Given the description of an element on the screen output the (x, y) to click on. 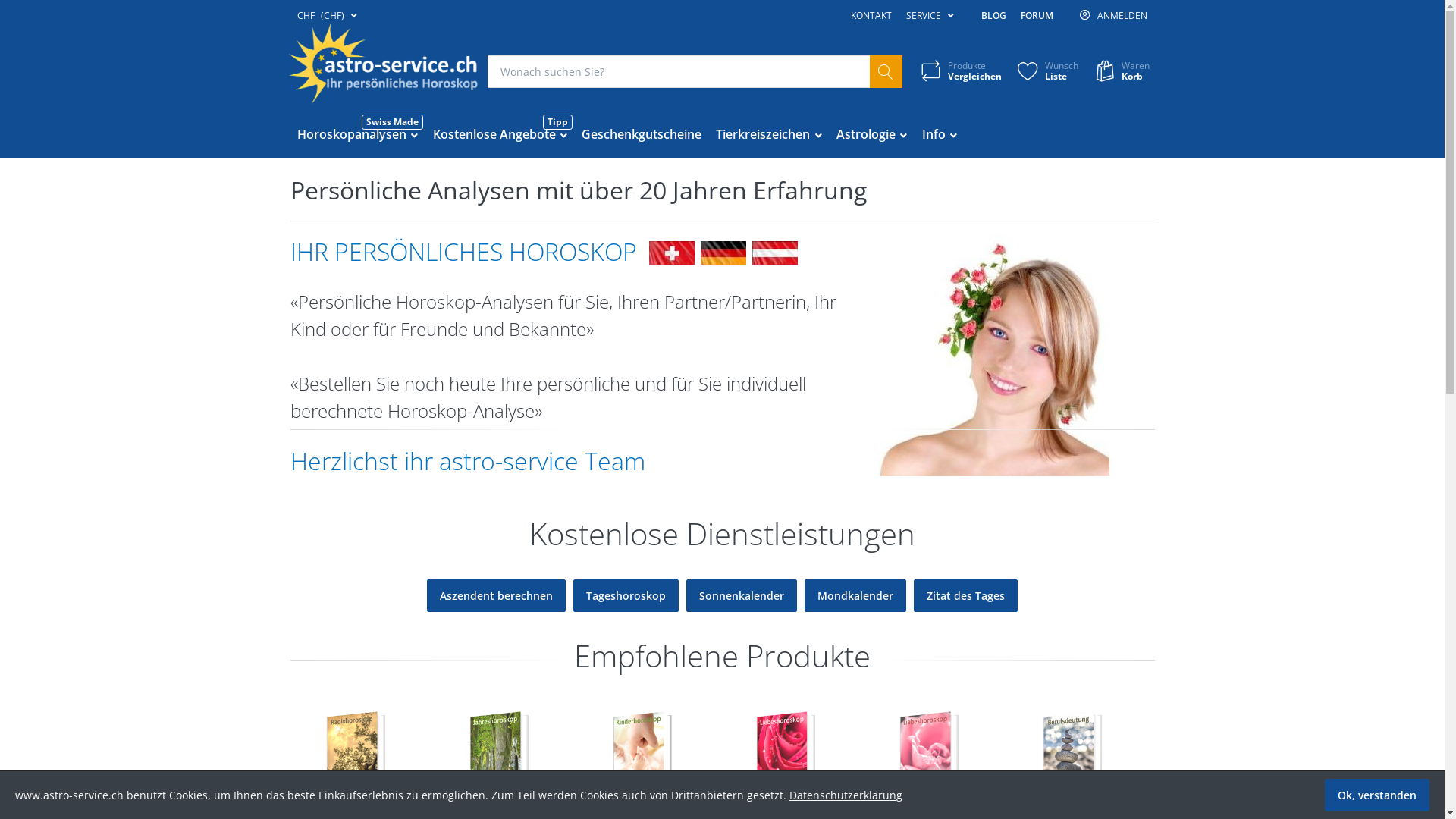
BLOG Element type: text (993, 15)
Sonnenkalender Element type: text (741, 593)
Produkte
Vergleichen Element type: text (959, 71)
Waren
Korb Element type: text (1119, 71)
Zitat des Tages Element type: text (965, 593)
Astrologie Element type: text (871, 134)
Wunsch
Liste Element type: text (1046, 71)
Tierkreiszeichen Element type: text (769, 134)
Info Element type: text (939, 134)
Kostenlose Angebote Element type: text (499, 134)
Aszendent berechnen Element type: text (496, 593)
www.astro-service.ch Element type: hover (382, 63)
Horoskopanalysen Element type: text (357, 134)
ANMELDEN Element type: text (1113, 15)
KONTAKT Element type: text (871, 15)
CHF (CHF) Element type: text (326, 15)
Geschenkgutscheine Element type: text (641, 134)
Tageshoroskop Element type: text (625, 593)
Ok, verstanden Element type: text (1376, 794)
FORUM Element type: text (1036, 15)
SERVICE Element type: text (930, 15)
Suchen Element type: hover (885, 71)
Mondkalender Element type: text (855, 593)
